Given the description of an element on the screen output the (x, y) to click on. 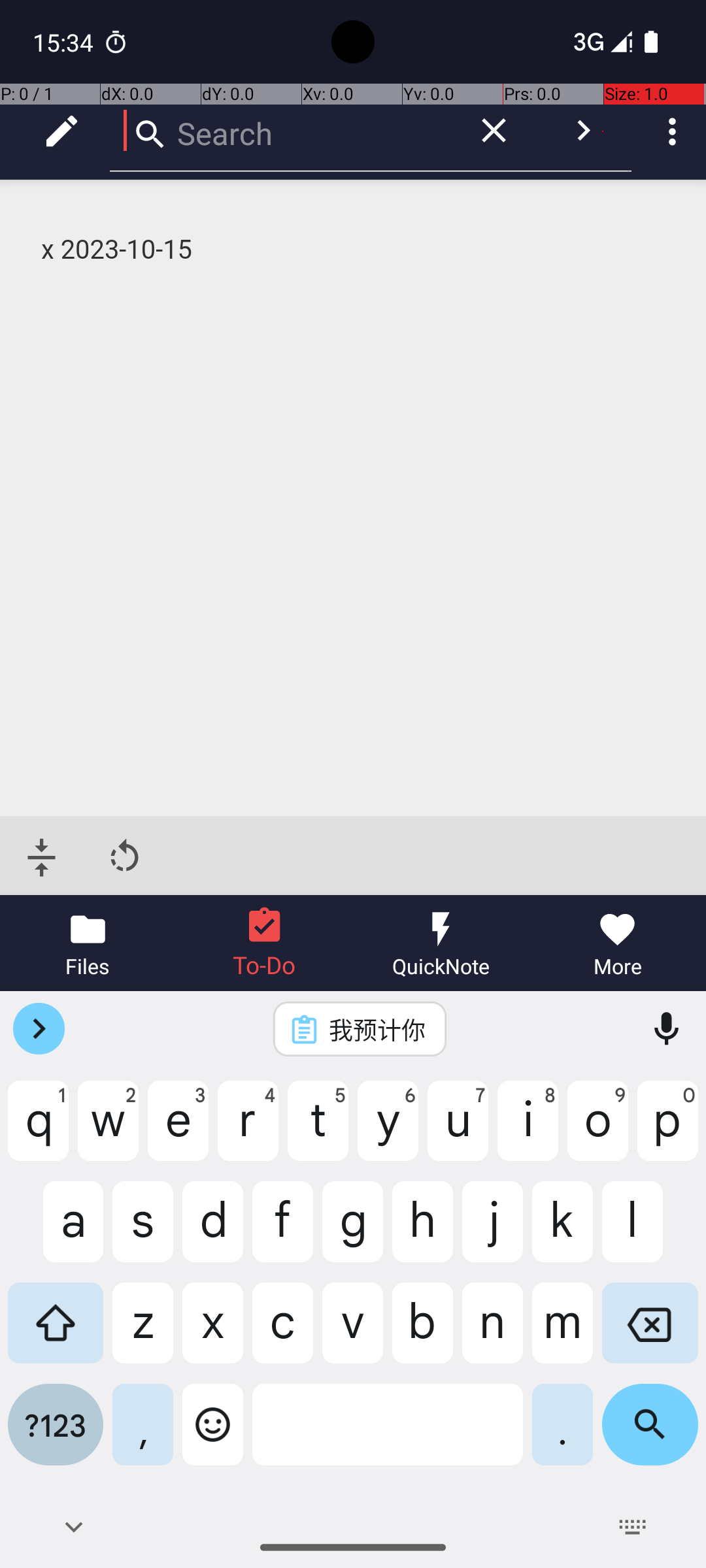
x 2023-10-15  Element type: android.widget.TextView (354, 249)
我预计你 Element type: android.widget.TextView (376, 1028)
